Given the description of an element on the screen output the (x, y) to click on. 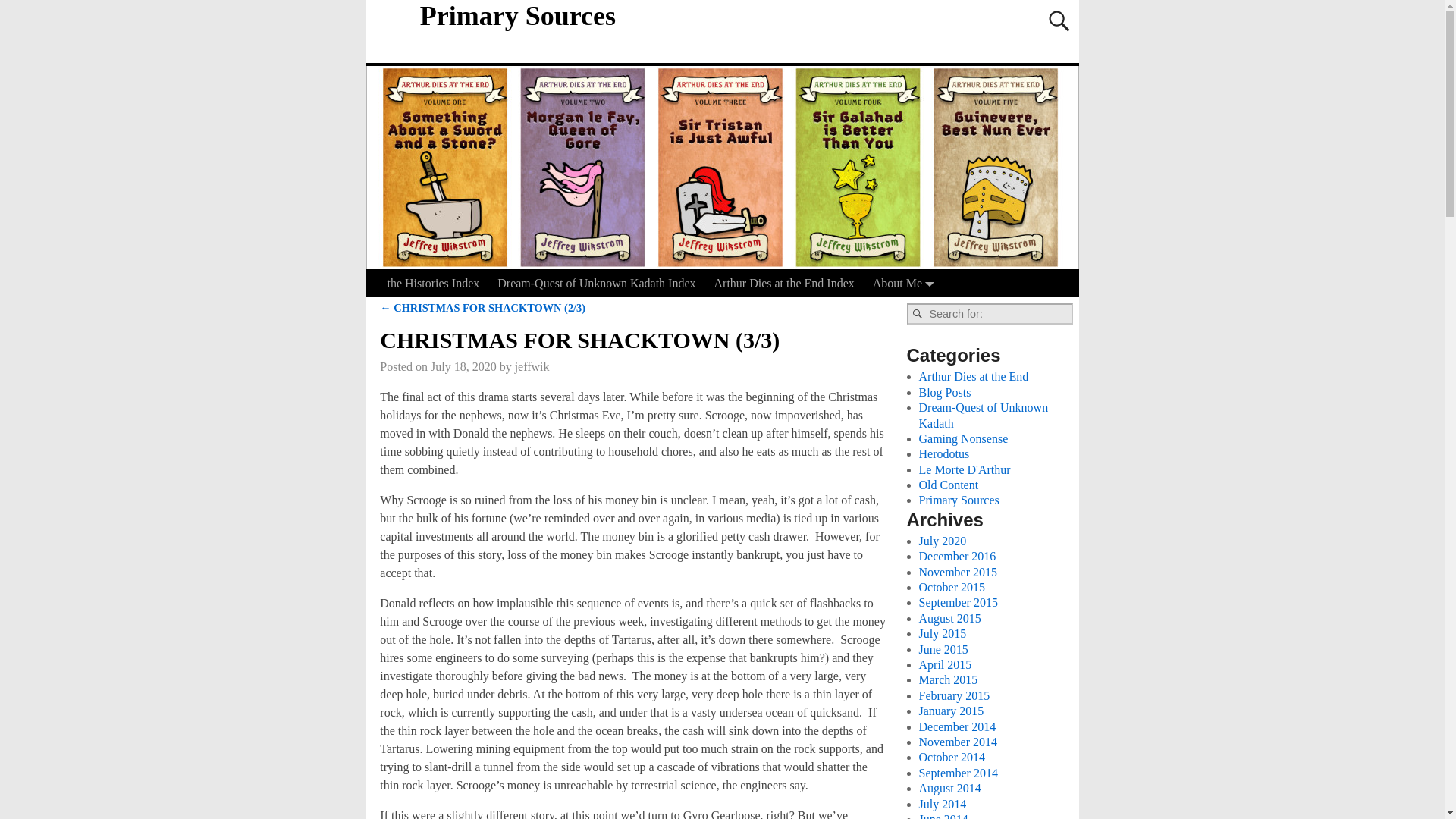
October 2015 (951, 586)
August 2015 (949, 617)
Arthur Dies at the End (973, 376)
July 2015 (942, 633)
July 18, 2020 (463, 366)
September 2015 (957, 602)
Old Content (948, 484)
June 2015 (943, 649)
Dream-Quest of Unknown Kadath Index (595, 283)
Primary Sources (517, 15)
